Given the description of an element on the screen output the (x, y) to click on. 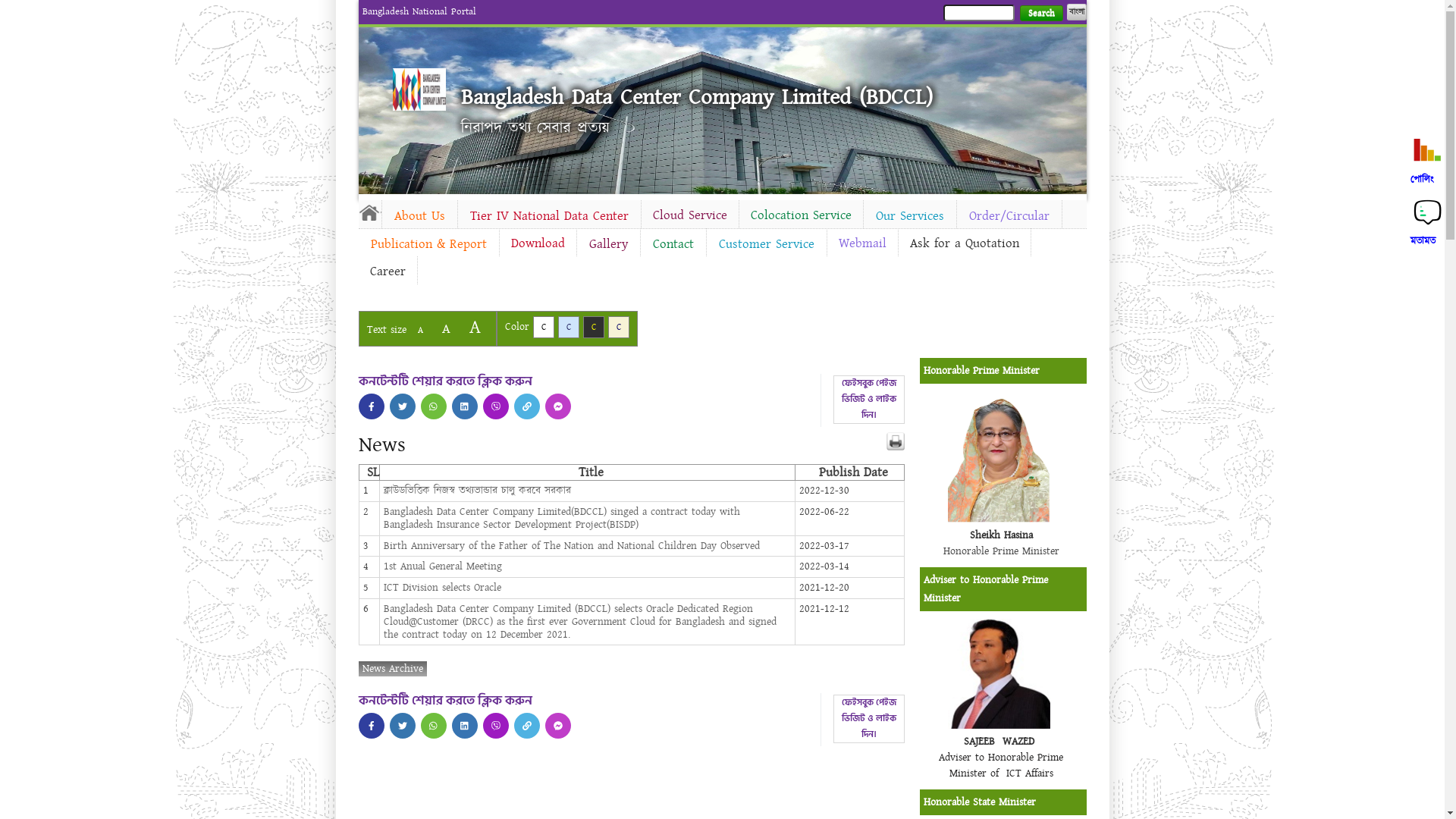
Bangladesh National Portal Element type: text (419, 11)
Gallery Element type: text (607, 244)
C Element type: text (568, 327)
Career Element type: text (386, 271)
A Element type: text (474, 327)
A Element type: text (419, 330)
A Element type: text (445, 328)
Colocation Service Element type: text (800, 215)
Tier IV National Data Center Element type: text (549, 216)
Ask for a Quotation Element type: text (963, 243)
ICT Division selects Oracle Element type: text (442, 587)
Home Element type: hover (368, 211)
Contact Element type: text (672, 244)
Webmail Element type: text (861, 243)
Publication & Report Element type: text (427, 244)
Search Element type: text (1040, 13)
News Archive Element type: text (391, 668)
Download Element type: text (536, 243)
C Element type: text (592, 327)
1st Anual General Meeting Element type: text (442, 566)
Order/Circular Element type: text (1009, 216)
Cloud Service Element type: text (689, 215)
C Element type: text (618, 327)
Our Services Element type: text (908, 216)
About Us Element type: text (419, 216)
Customer Service Element type: text (766, 244)
C Element type: text (542, 327)
Home Element type: hover (418, 89)
Bangladesh Data Center Company Limited (BDCCL) Element type: text (696, 96)
